Given the description of an element on the screen output the (x, y) to click on. 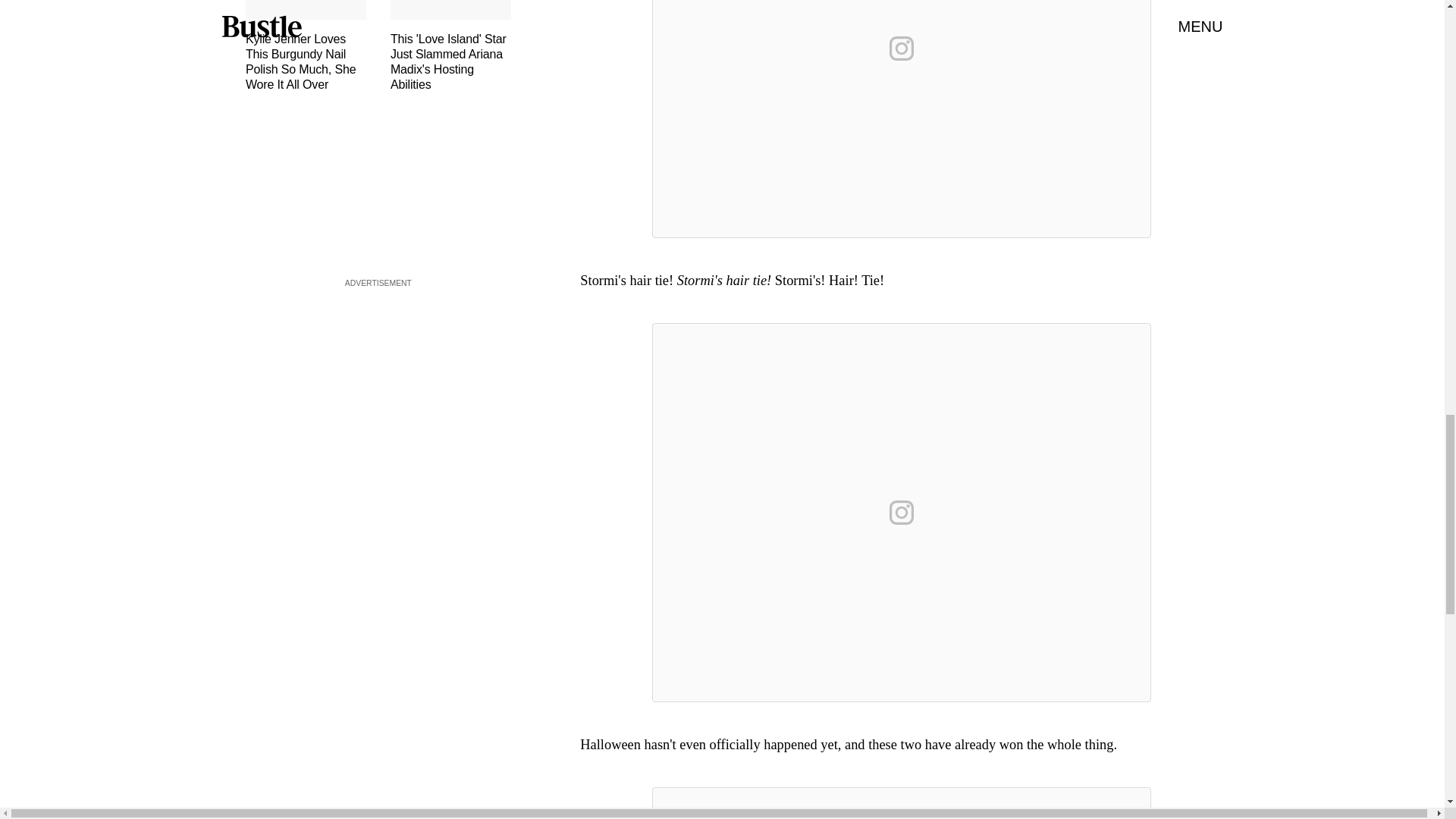
View on Instagram (901, 512)
View on Instagram (901, 48)
